Given the description of an element on the screen output the (x, y) to click on. 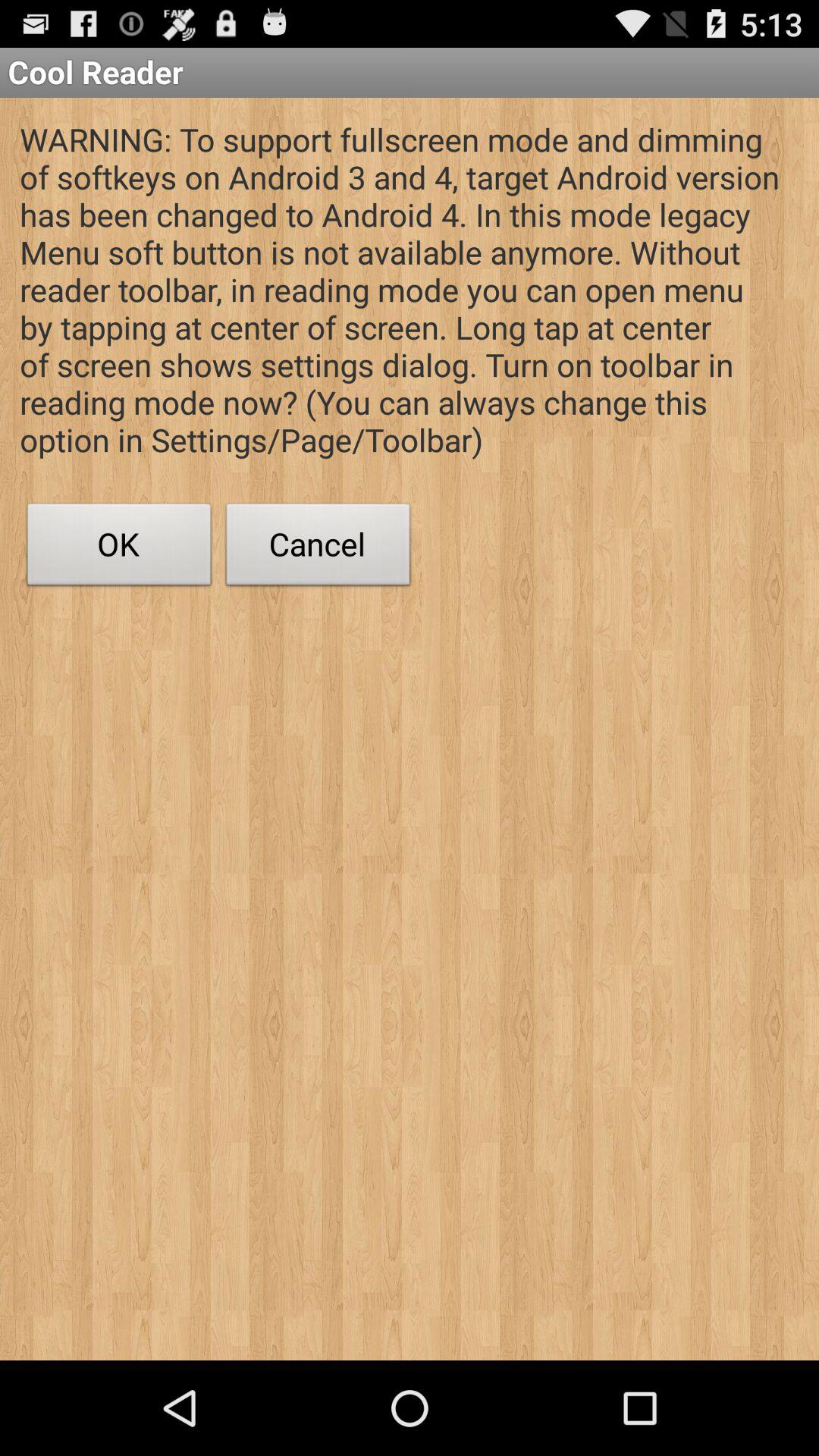
turn off item below warning to support (118, 548)
